Given the description of an element on the screen output the (x, y) to click on. 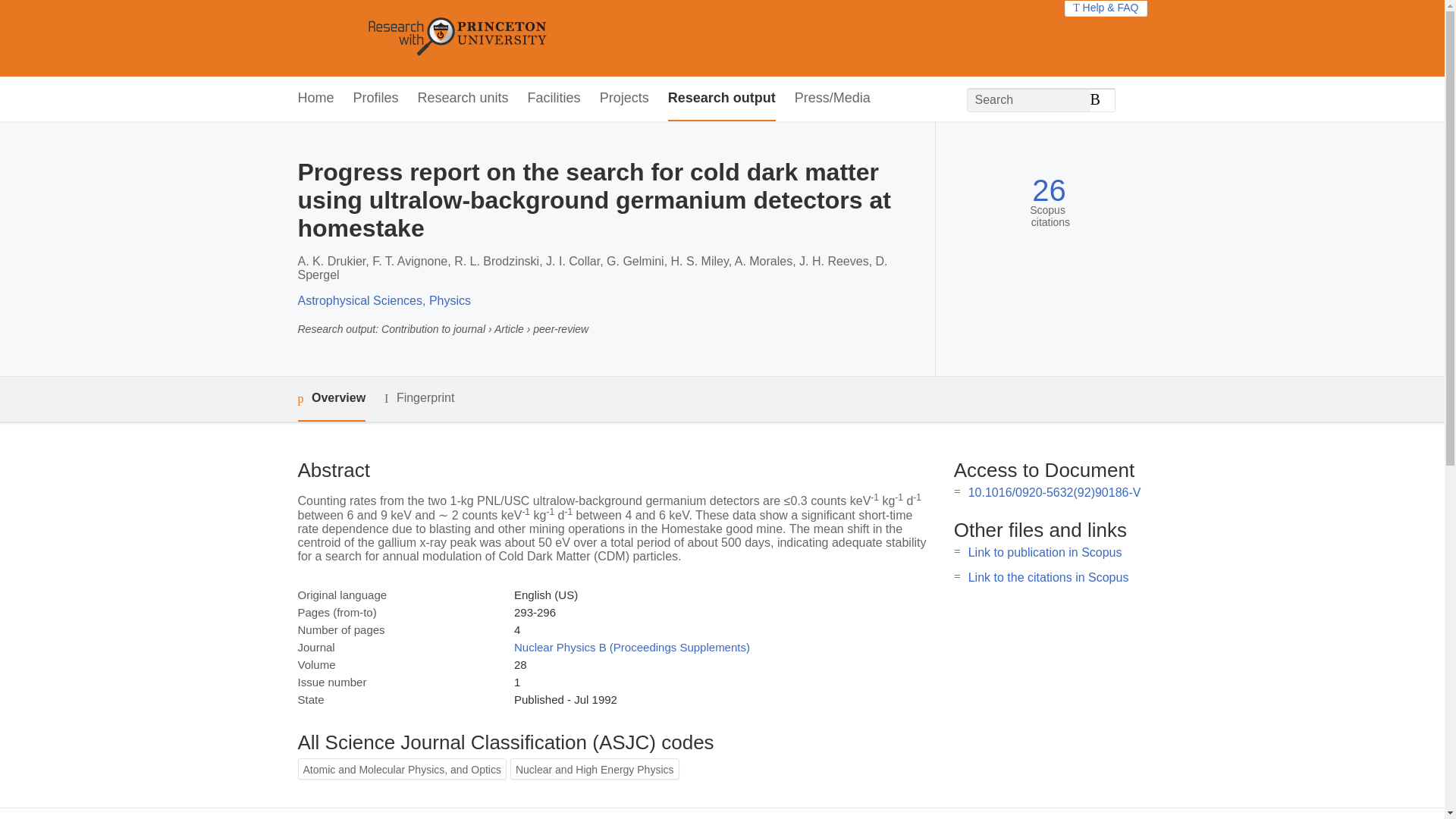
Physics (449, 300)
Profiles (375, 98)
Princeton University Home (567, 38)
Fingerprint (419, 398)
Facilities (553, 98)
Research output (722, 98)
Projects (624, 98)
26 (1048, 190)
Research units (462, 98)
Link to publication in Scopus (1045, 552)
Astrophysical Sciences (359, 300)
Link to the citations in Scopus (1048, 576)
Overview (331, 398)
